Given the description of an element on the screen output the (x, y) to click on. 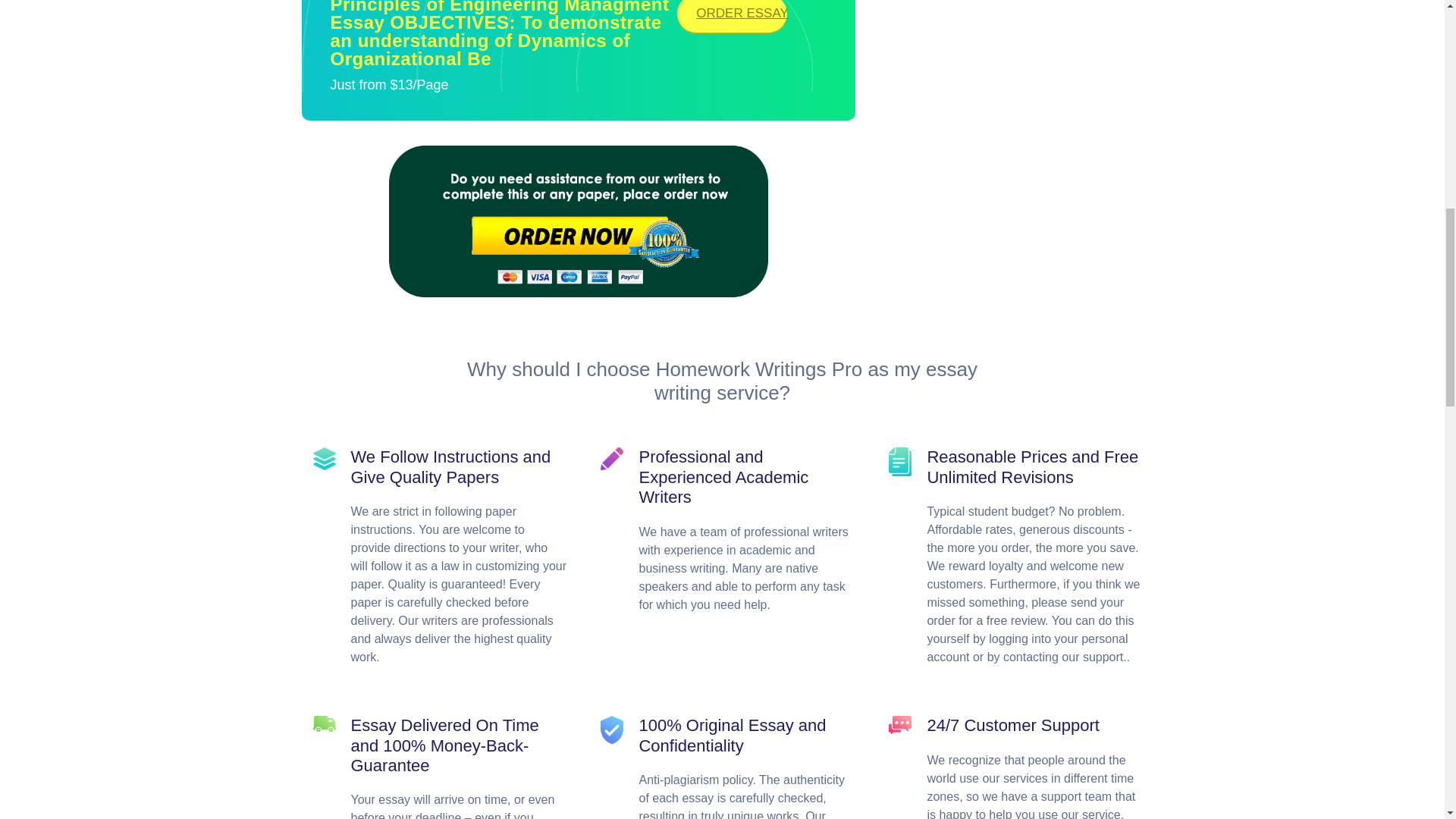
ORDER ESSAY (732, 16)
